Given the description of an element on the screen output the (x, y) to click on. 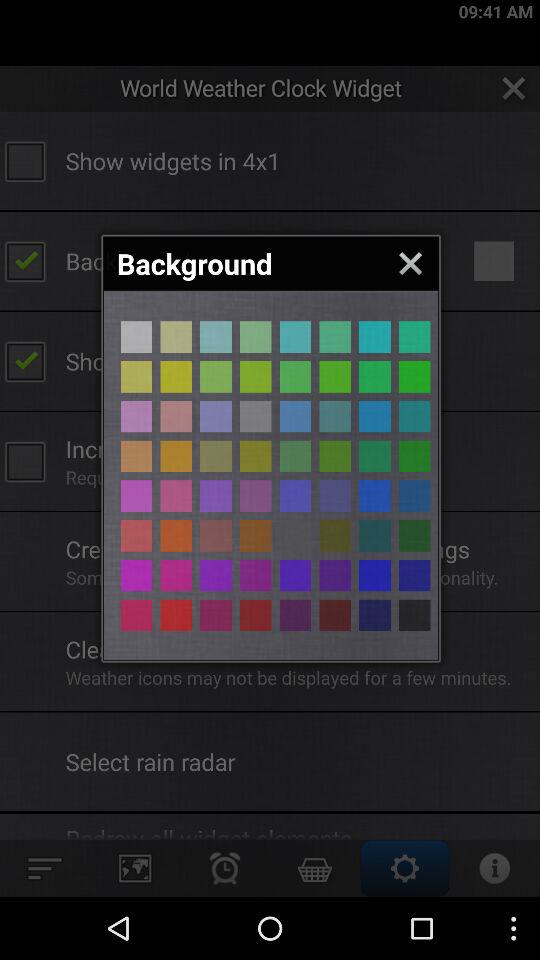
backround color design (374, 376)
